Given the description of an element on the screen output the (x, y) to click on. 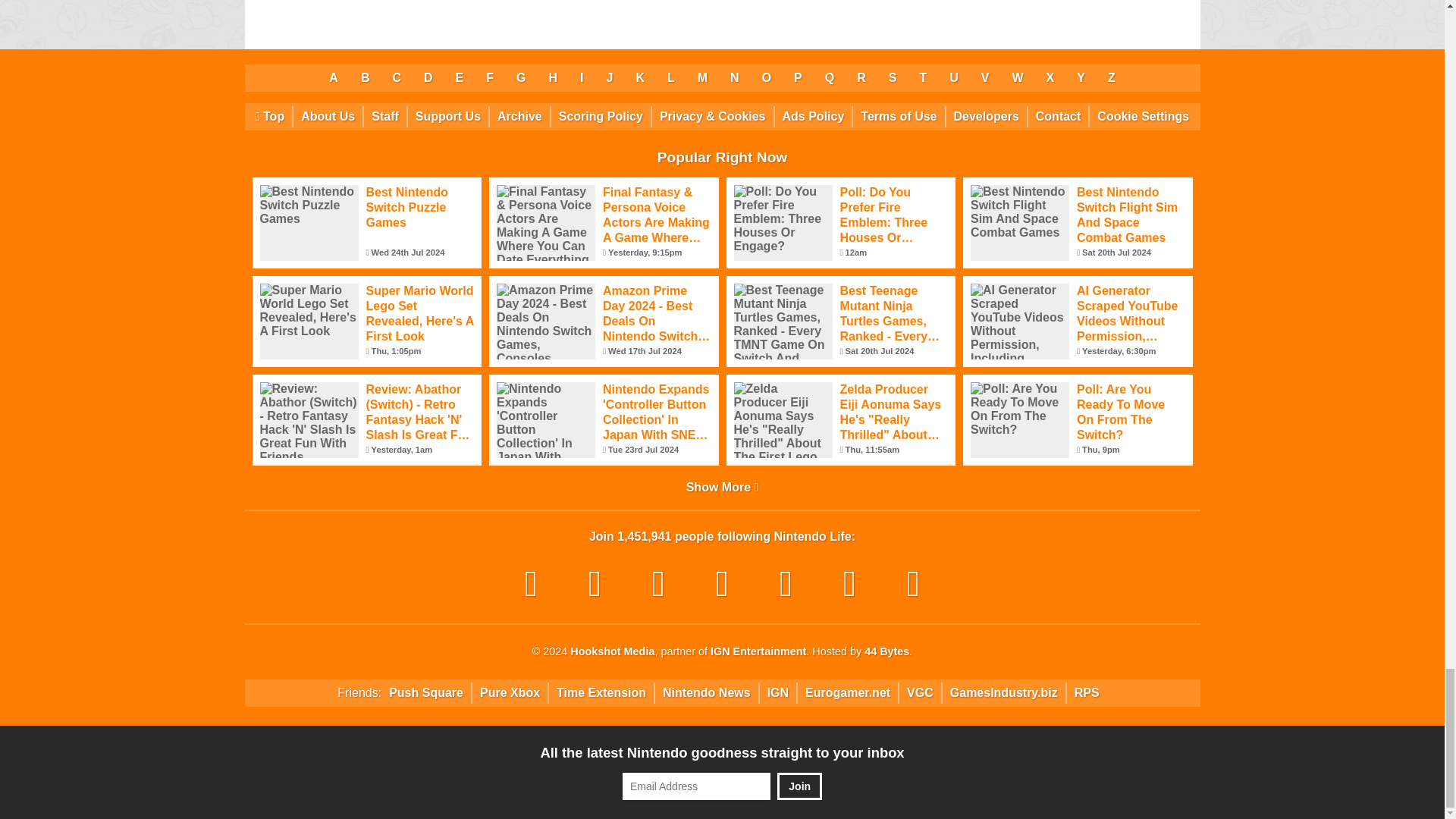
Join (799, 786)
